Given the description of an element on the screen output the (x, y) to click on. 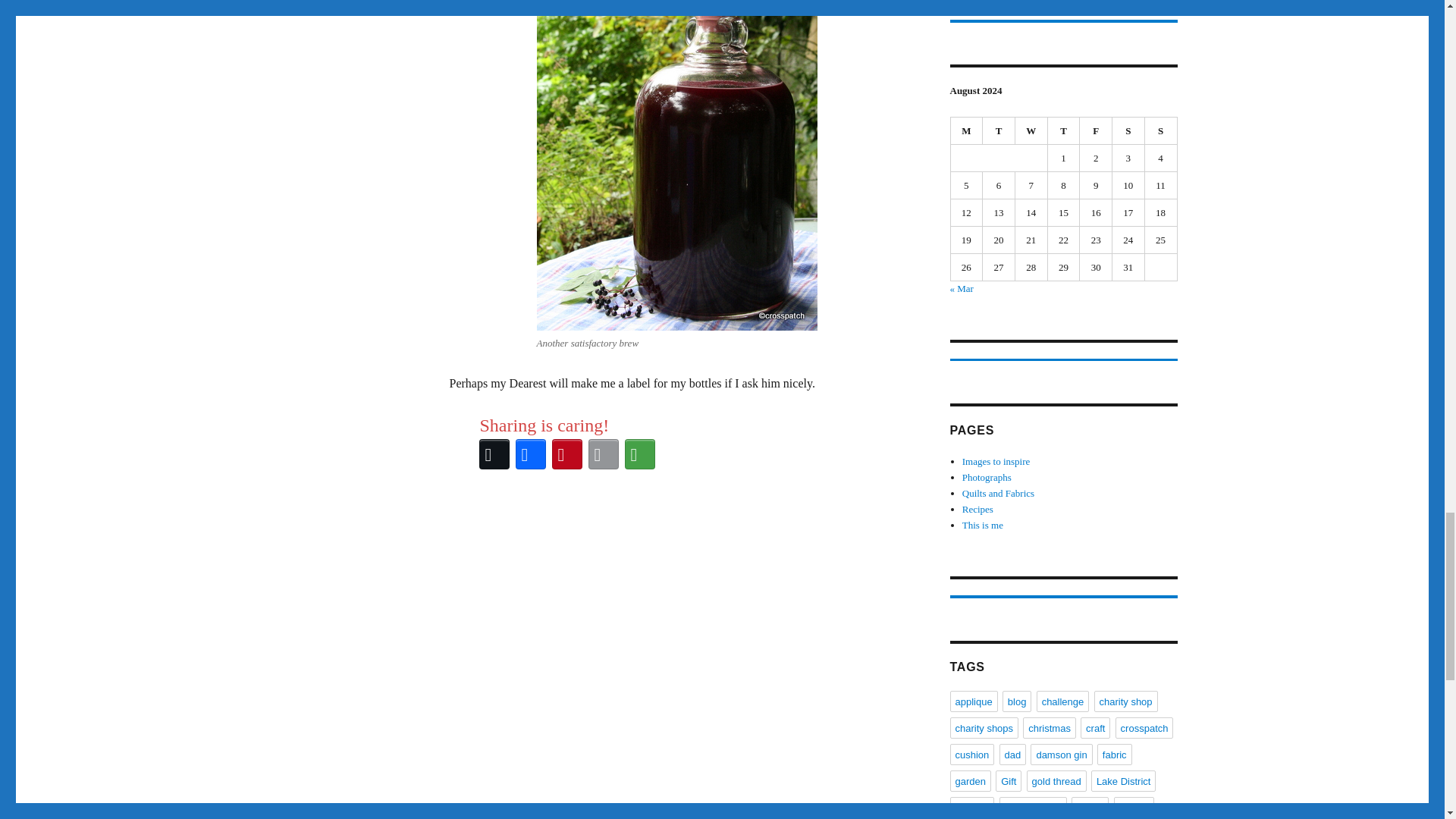
Email This (603, 453)
Tuesday (998, 130)
Monday (967, 130)
More Options (639, 453)
Facebook (530, 453)
Pinterest (566, 453)
